Given the description of an element on the screen output the (x, y) to click on. 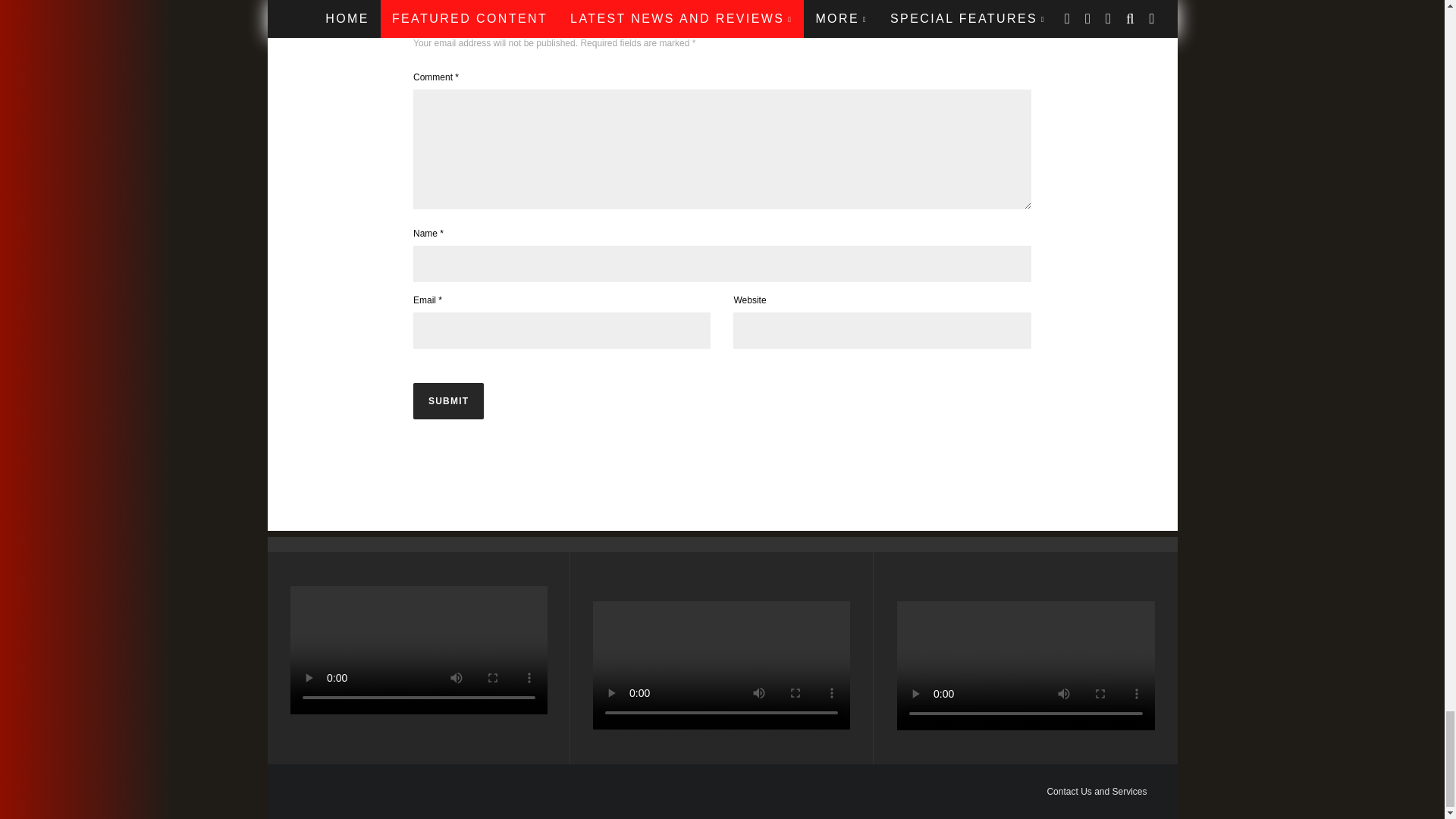
Submit (448, 401)
